Given the description of an element on the screen output the (x, y) to click on. 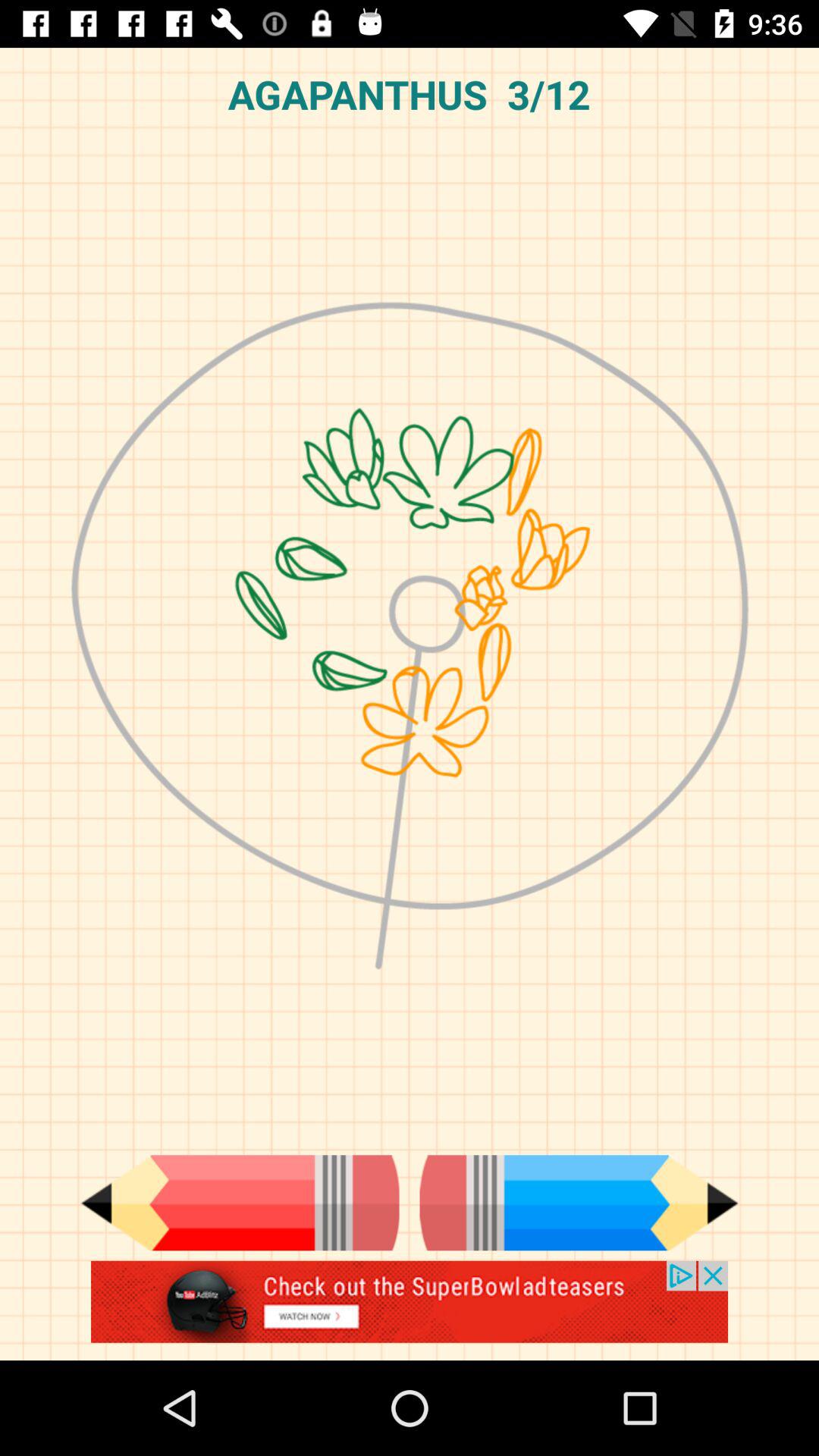
advertisement banner (409, 1310)
